Given the description of an element on the screen output the (x, y) to click on. 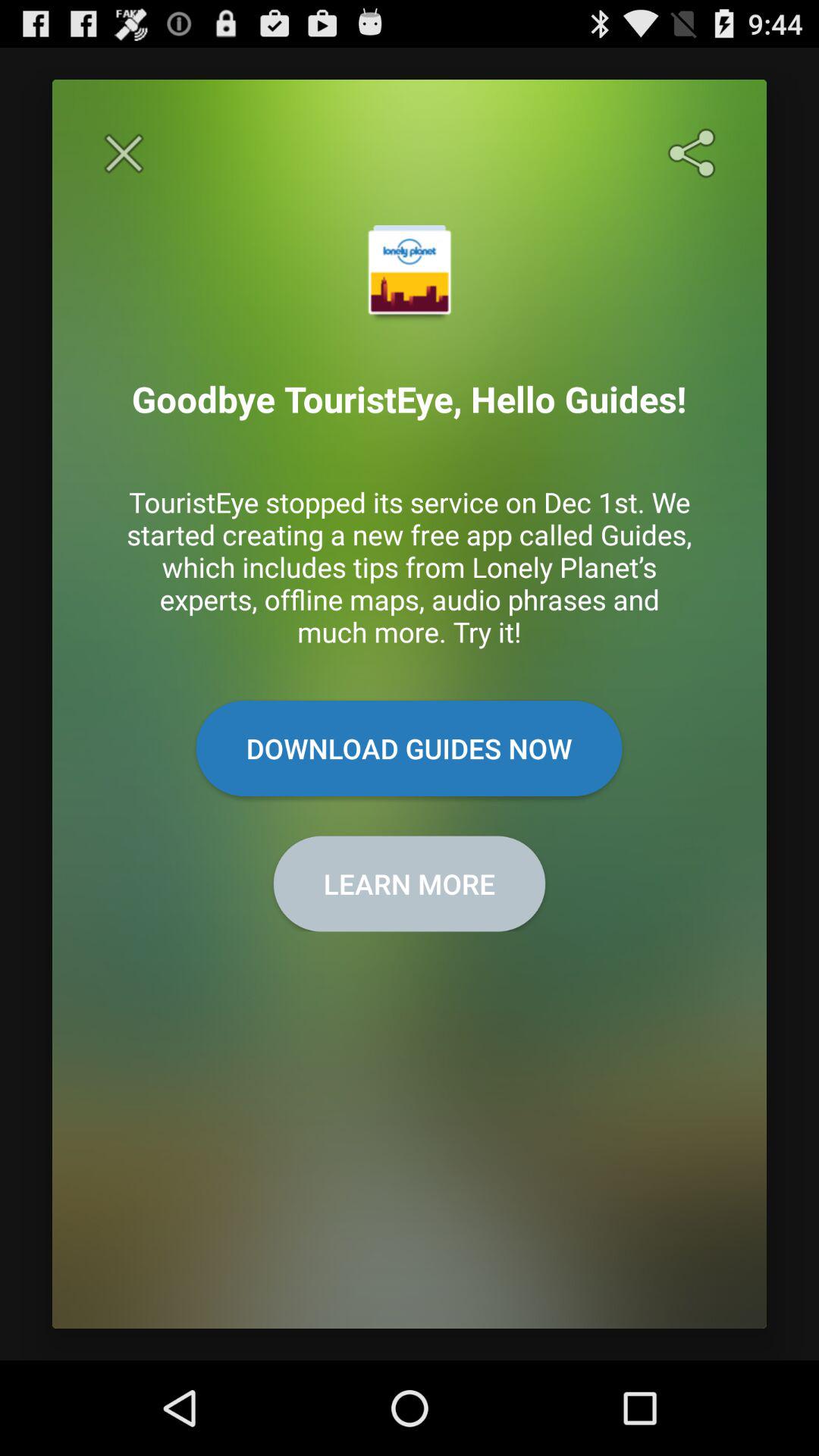
swipe until learn more icon (409, 883)
